Given the description of an element on the screen output the (x, y) to click on. 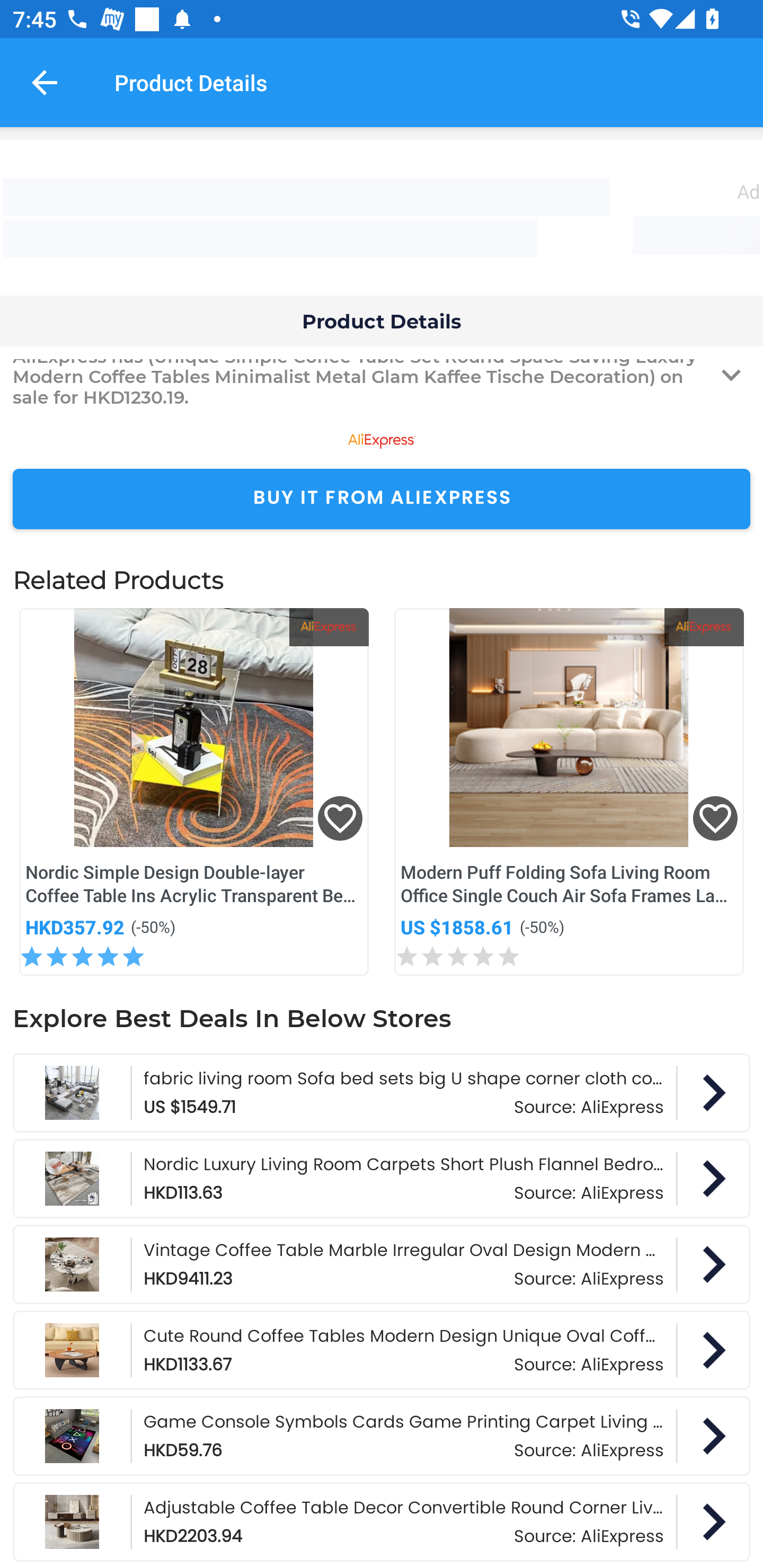
Navigate up (44, 82)
BUY IT FROM ALIEXPRESS (381, 499)
